Given the description of an element on the screen output the (x, y) to click on. 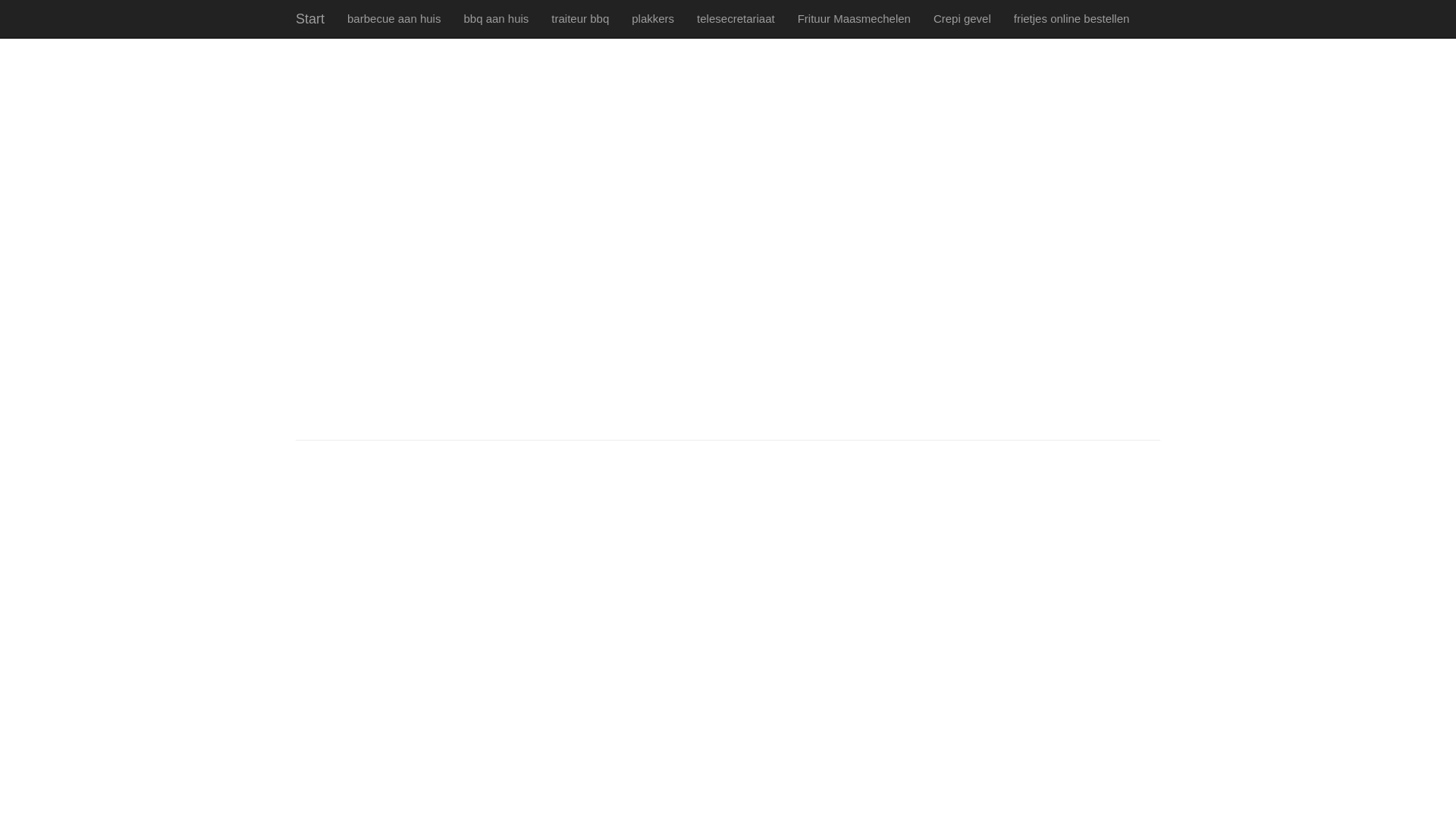
barbecue aan huis Element type: text (393, 18)
Frituur Maasmechelen Element type: text (854, 18)
frietjes online bestellen Element type: text (1071, 18)
traiteur bbq Element type: text (579, 18)
Crepi gevel Element type: text (962, 18)
Start Element type: text (309, 18)
plakkers Element type: text (652, 18)
telesecretariaat Element type: text (735, 18)
bbq aan huis Element type: text (495, 18)
